Given the description of an element on the screen output the (x, y) to click on. 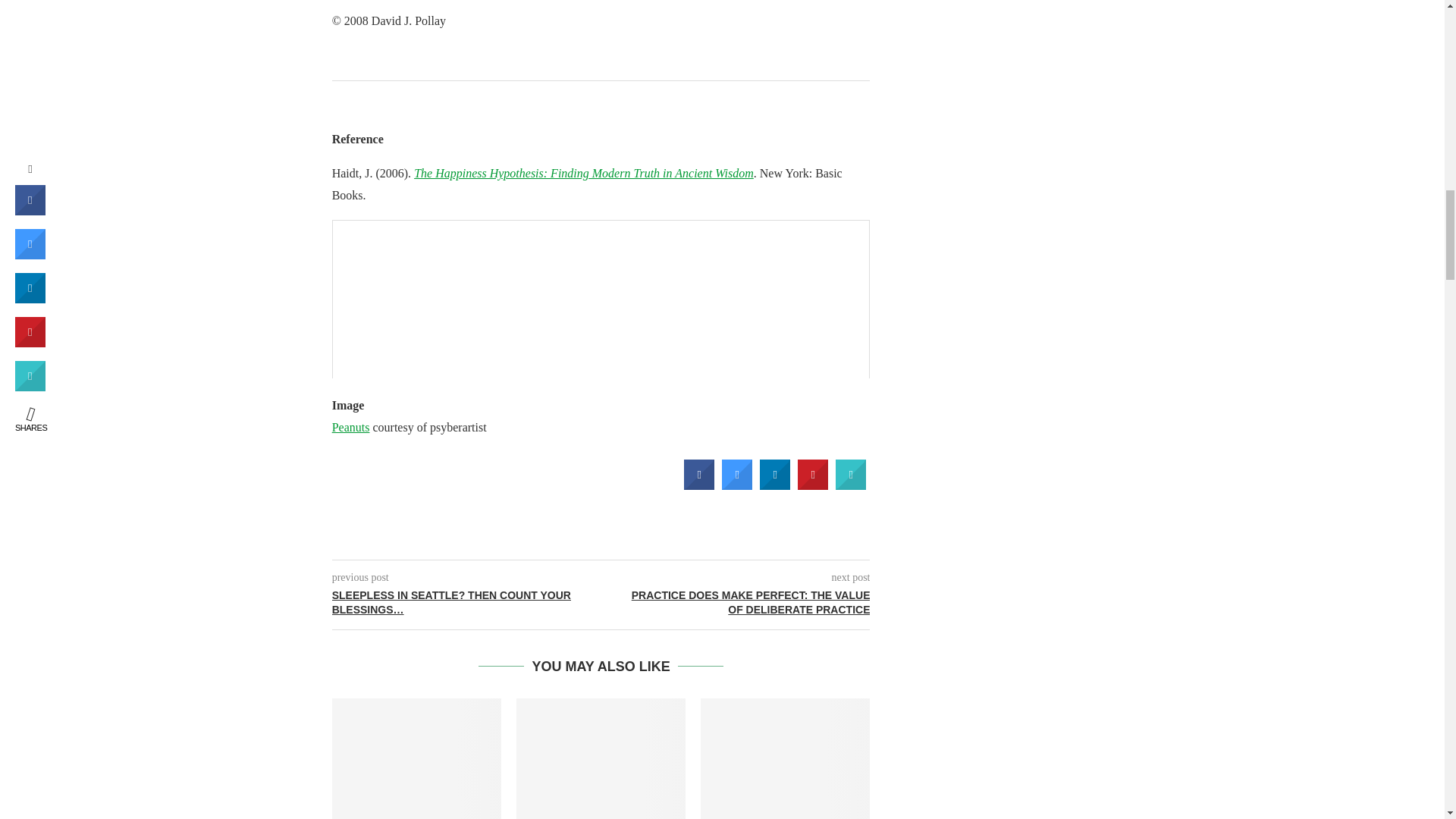
Share to LinkedIn (775, 485)
Share on Twitter (737, 485)
Share on Pinterest (812, 485)
Share on Facebook (699, 485)
Print this page (850, 485)
